Given the description of an element on the screen output the (x, y) to click on. 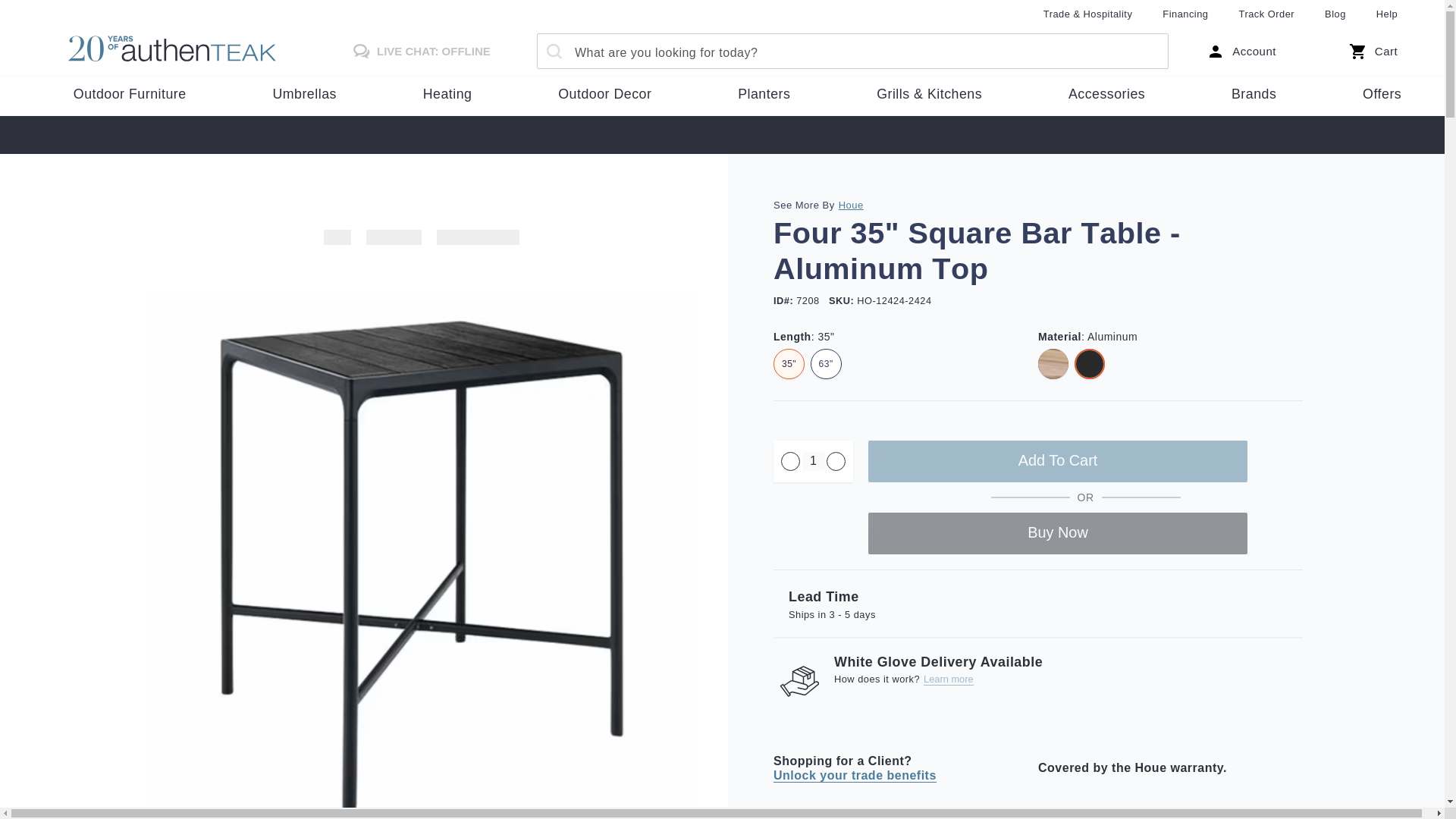
Account (1241, 51)
Buy Now (1057, 533)
Outdoor Decor (604, 94)
Shop All Outdoor Heating (447, 94)
Learn more (948, 679)
Shop Outdoor Decor (604, 94)
Go to Help page (1386, 14)
Authenteak.com (185, 51)
Shop All Outdoor Furniture (130, 94)
Go to Track Order page (1267, 14)
